Given the description of an element on the screen output the (x, y) to click on. 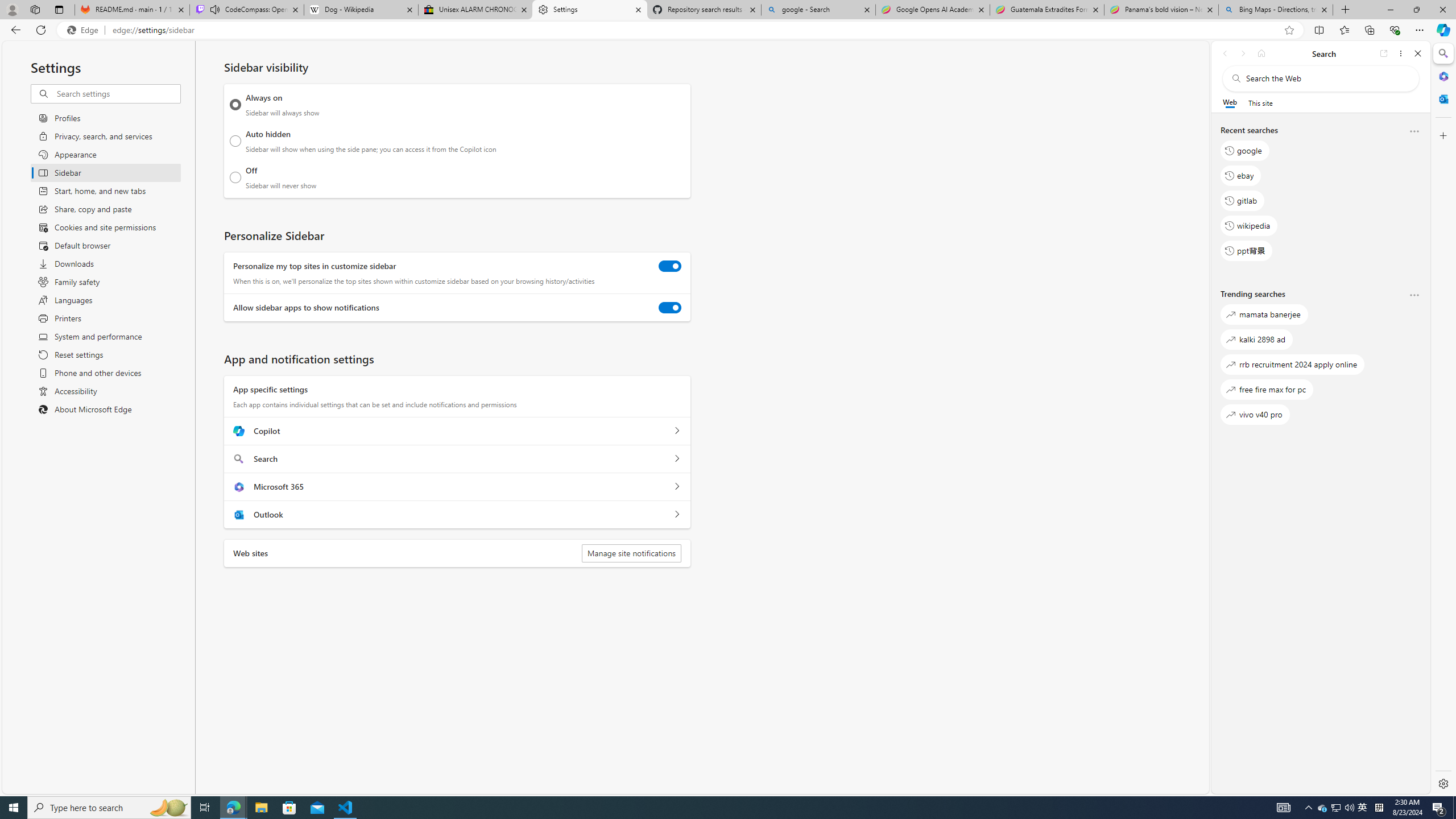
free fire max for pc (1266, 389)
Edge (84, 29)
